Given the description of an element on the screen output the (x, y) to click on. 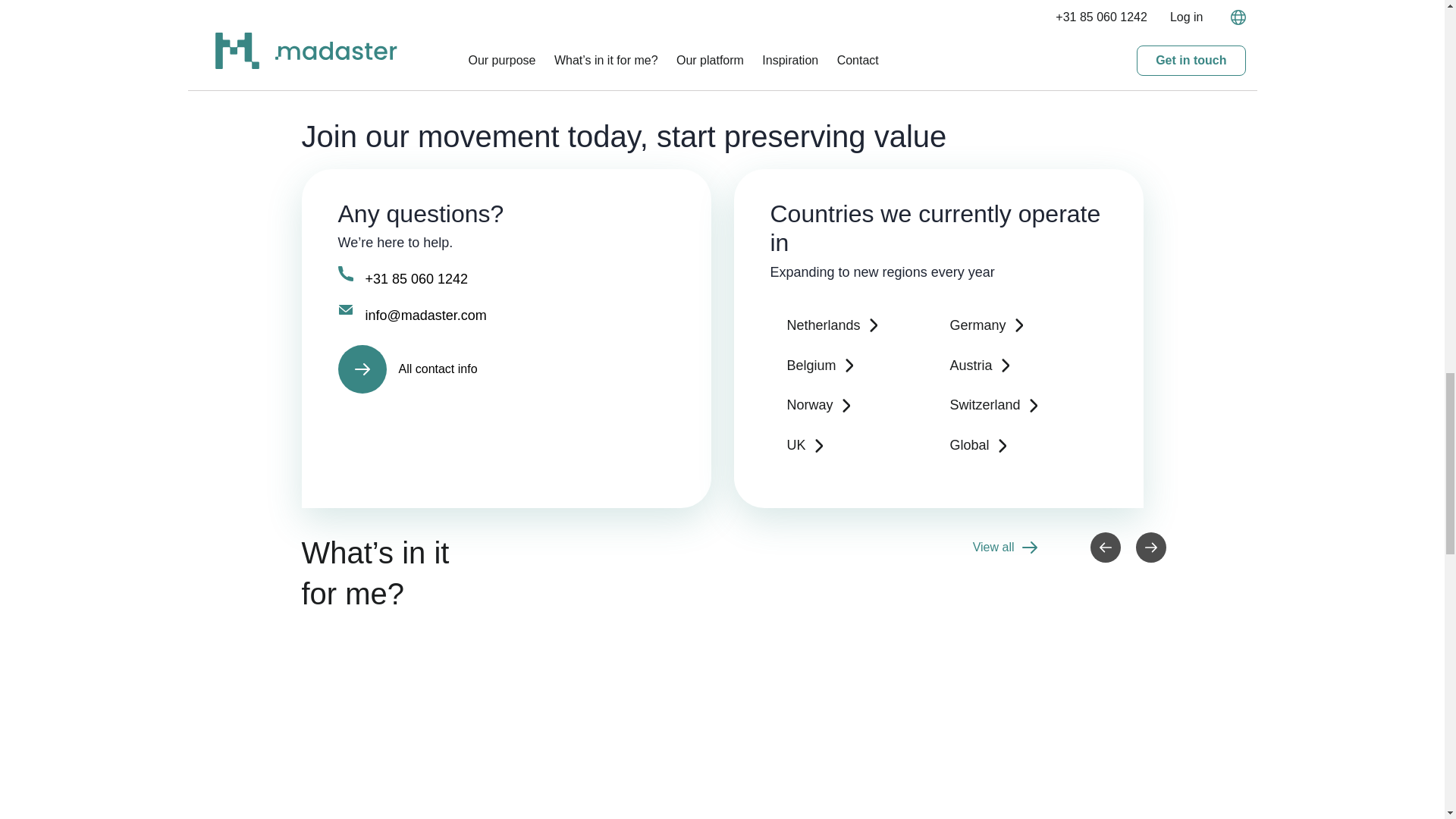
Belgium (857, 365)
UK (857, 445)
All contact info (506, 368)
Norway (857, 405)
Netherlands (857, 325)
